Given the description of an element on the screen output the (x, y) to click on. 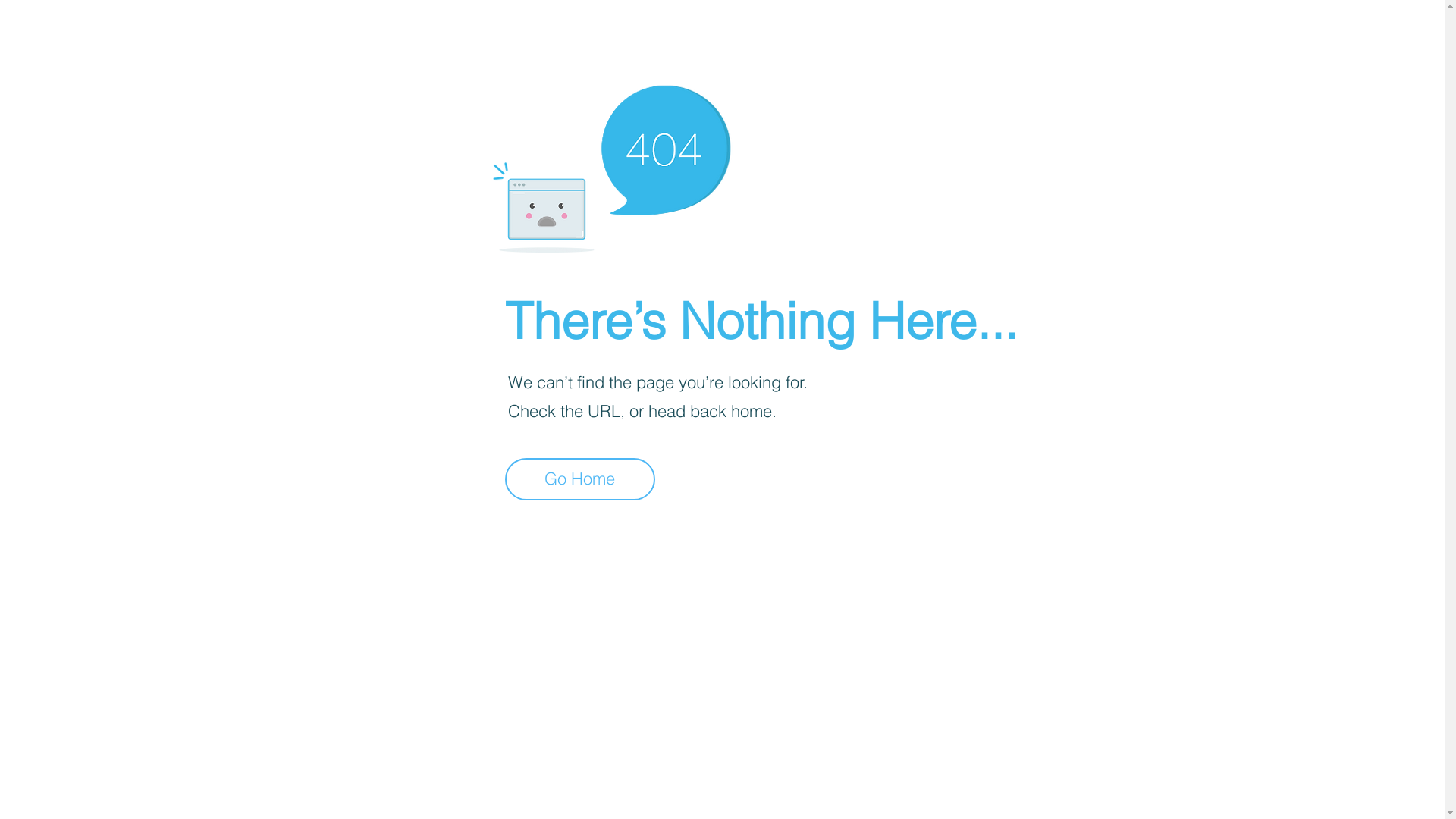
Go Home Element type: text (580, 479)
404-icon_2.png Element type: hover (610, 164)
